Given the description of an element on the screen output the (x, y) to click on. 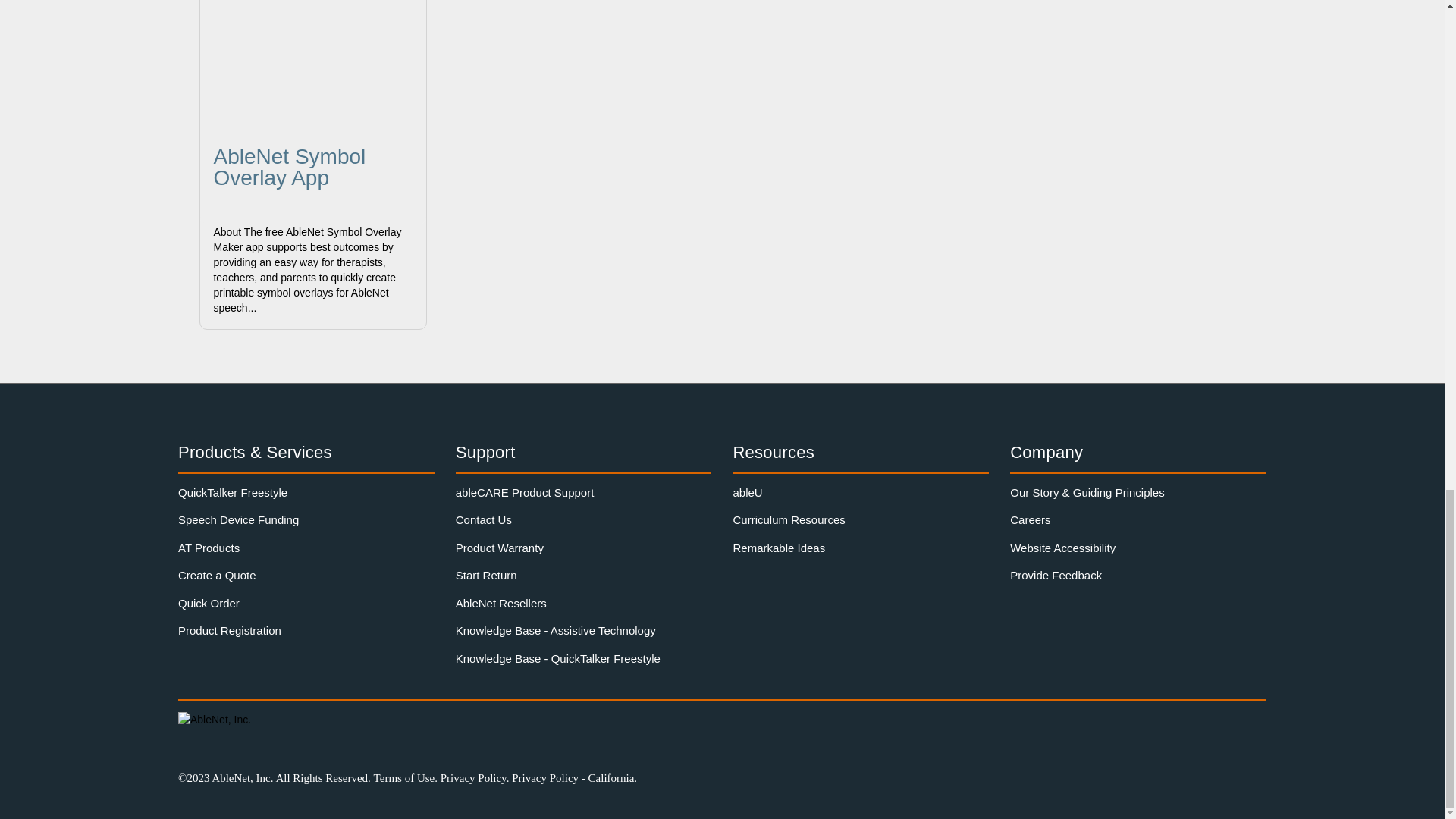
Symbol Overlay Maker home screen (313, 66)
AbleNet, Inc. (230, 719)
